Given the description of an element on the screen output the (x, y) to click on. 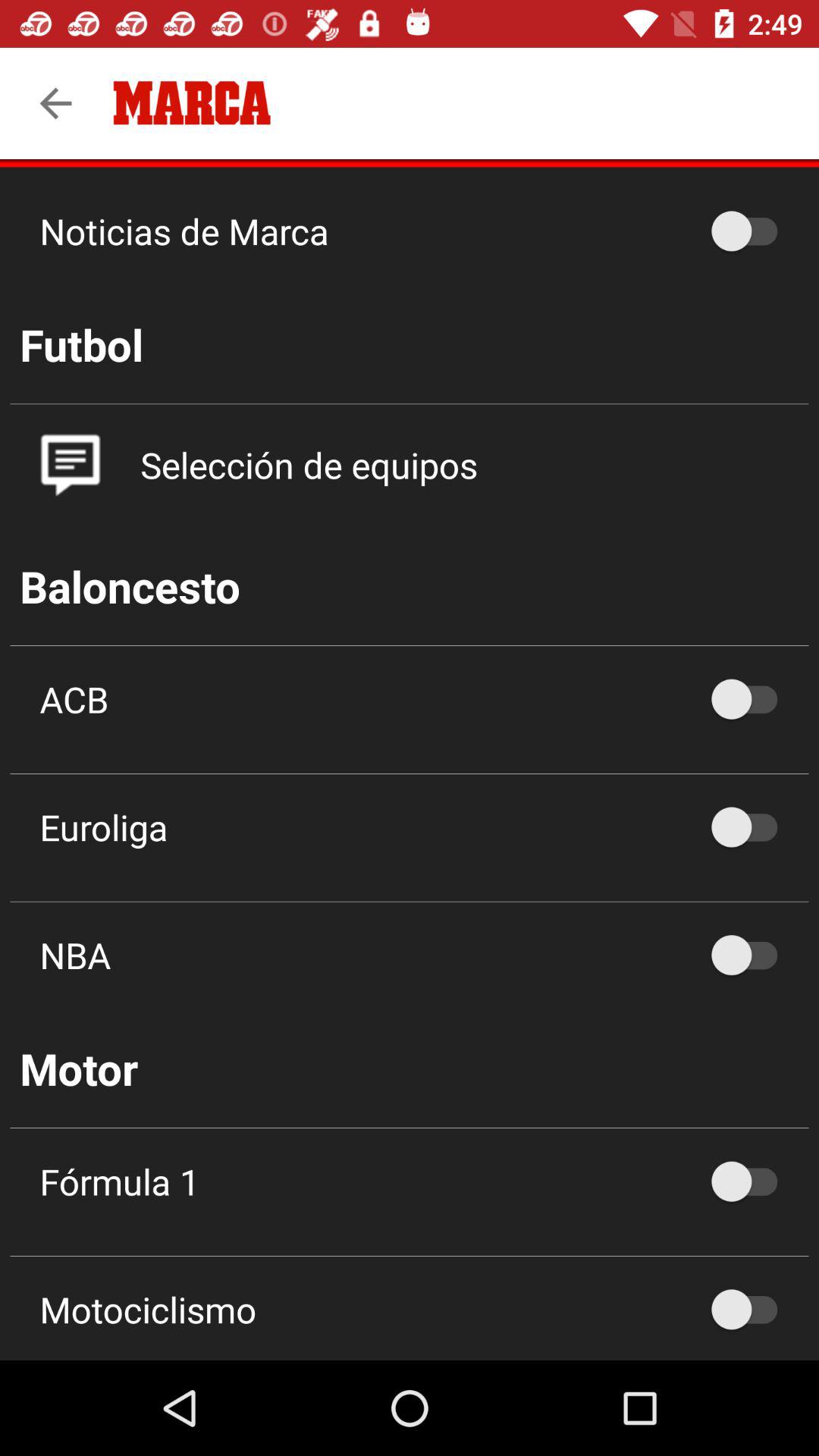
toggle formula 1 option (751, 1181)
